Given the description of an element on the screen output the (x, y) to click on. 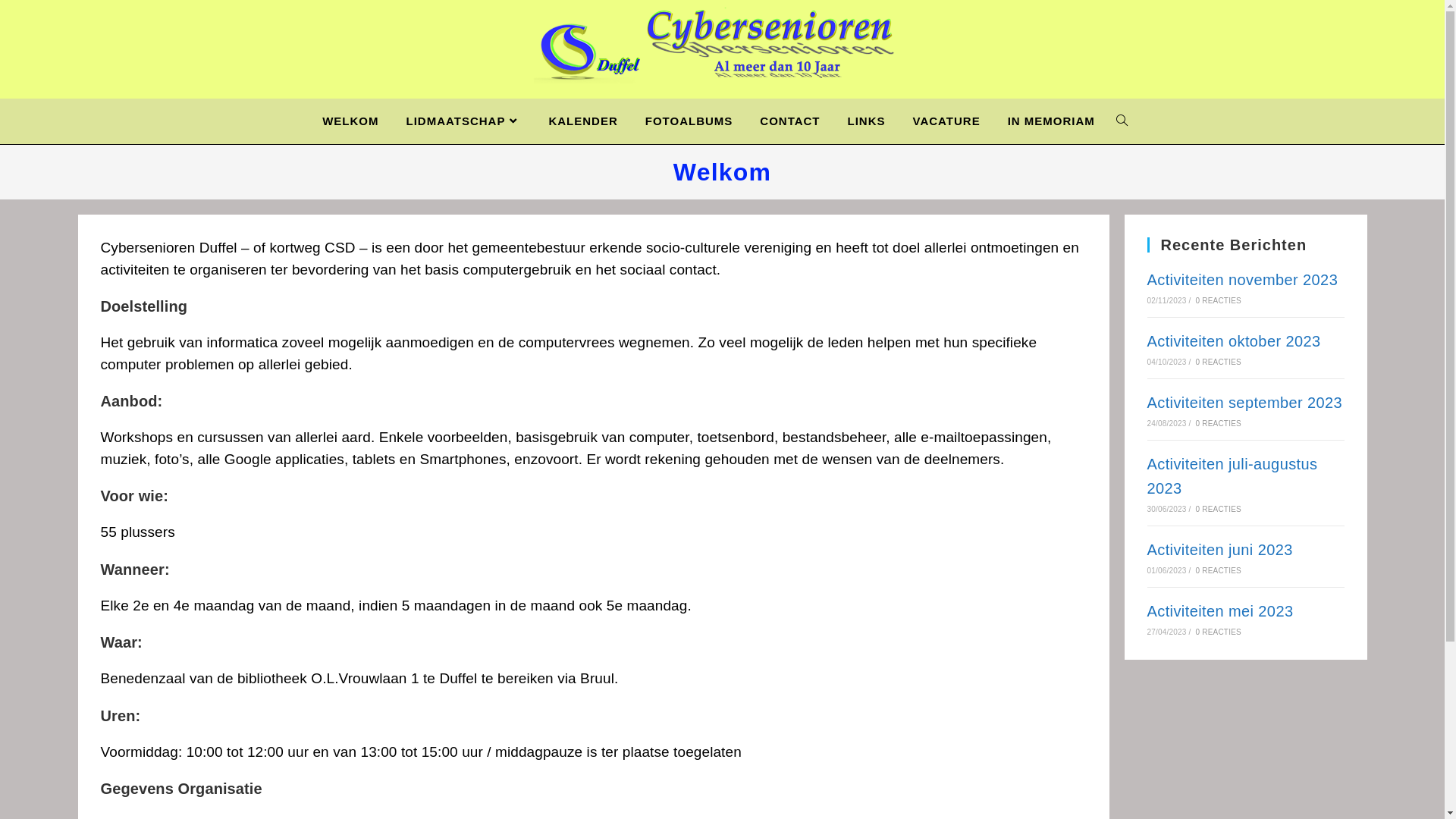
0 REACTIES Element type: text (1218, 361)
WELKOM Element type: text (350, 121)
IN MEMORIAM Element type: text (1051, 121)
0 REACTIES Element type: text (1218, 631)
Activiteiten juli-augustus 2023 Element type: text (1231, 475)
CONTACT Element type: text (789, 121)
Activiteiten mei 2023 Element type: text (1219, 610)
LIDMAATSCHAP Element type: text (463, 121)
TOGGLE WEBSITE ZOEKEN Element type: text (1121, 121)
Activiteiten juni 2023 Element type: text (1219, 549)
Activiteiten oktober 2023 Element type: text (1233, 340)
0 REACTIES Element type: text (1218, 423)
KALENDER Element type: text (582, 121)
0 REACTIES Element type: text (1218, 509)
FOTOALBUMS Element type: text (688, 121)
LINKS Element type: text (866, 121)
0 REACTIES Element type: text (1218, 570)
Activiteiten september 2023 Element type: text (1244, 402)
0 REACTIES Element type: text (1218, 300)
VACATURE Element type: text (946, 121)
Activiteiten november 2023 Element type: text (1241, 279)
